Given the description of an element on the screen output the (x, y) to click on. 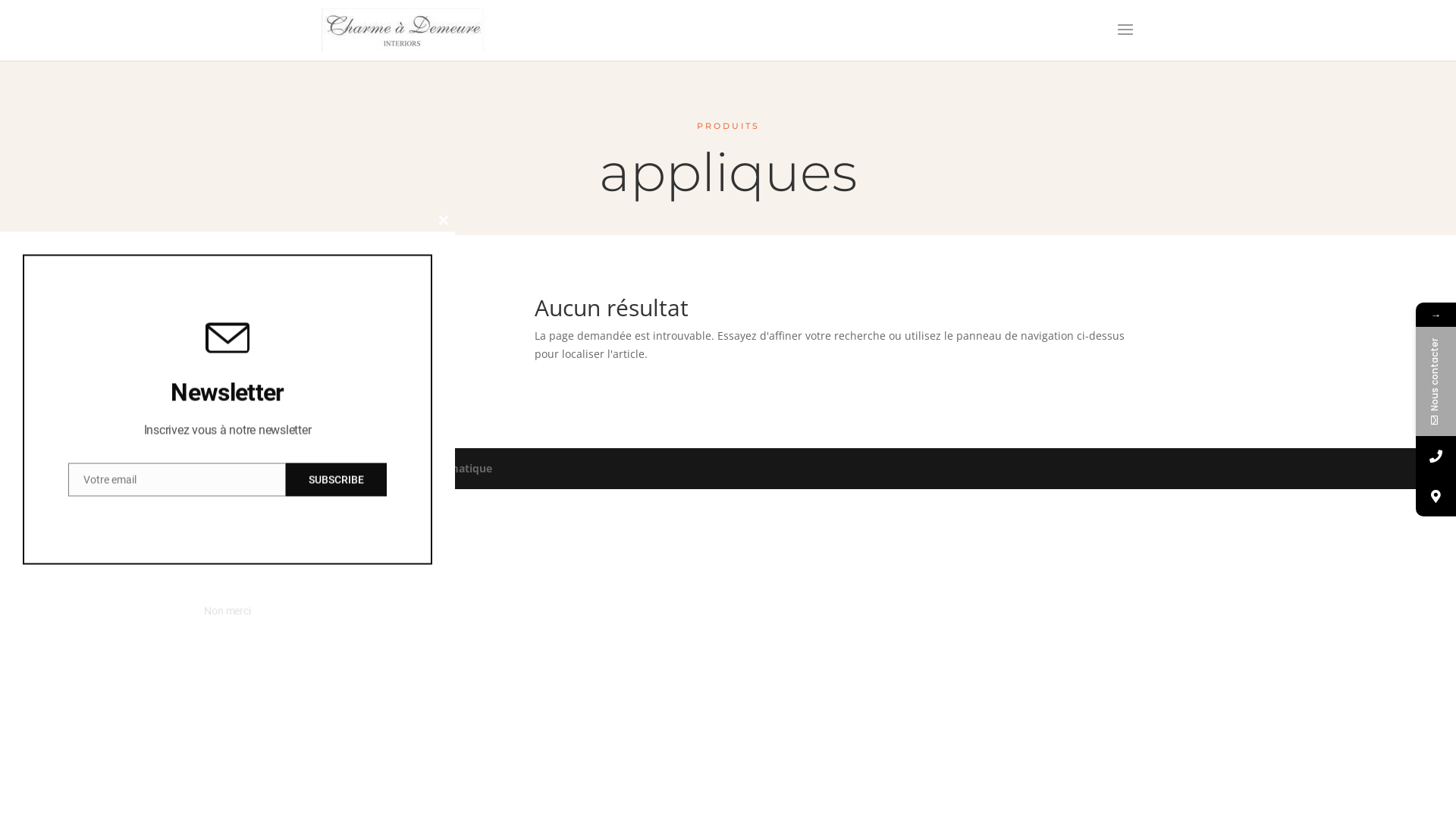
Non merci Element type: text (226, 611)
SUBSCRIBE Element type: text (335, 478)
ACS Informatique Element type: text (445, 468)
Close this module Element type: text (443, 220)
